Given the description of an element on the screen output the (x, y) to click on. 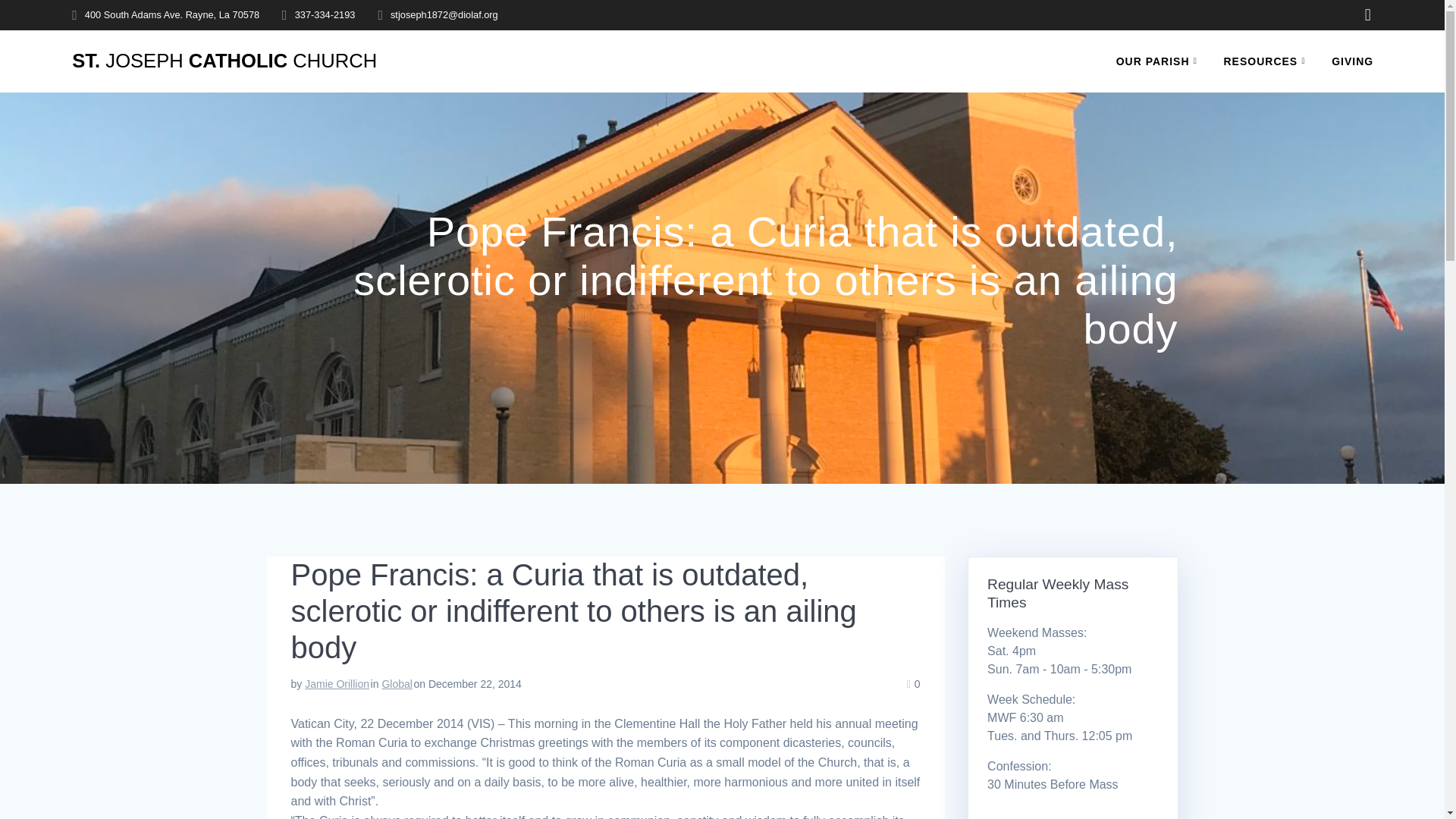
Jamie Orillion (336, 684)
ST. JOSEPH CATHOLIC CHURCH (224, 61)
Global (396, 684)
RESOURCES (1267, 61)
GIVING (1352, 61)
Posts by Jamie Orillion (336, 684)
OUR PARISH (1160, 61)
